Given the description of an element on the screen output the (x, y) to click on. 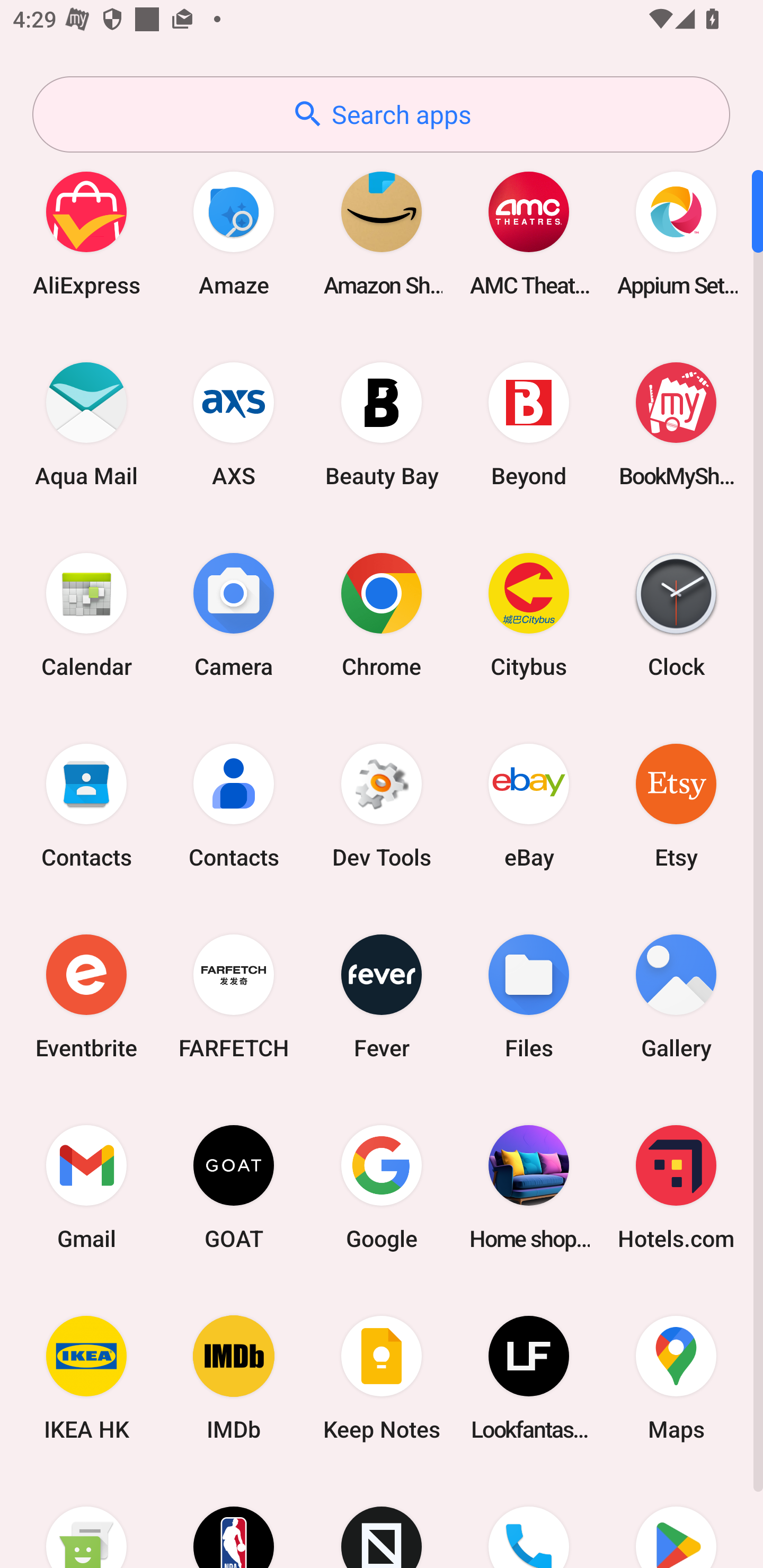
  Search apps (381, 114)
AliExpress (86, 233)
Amaze (233, 233)
Amazon Shopping (381, 233)
AMC Theatres (528, 233)
Appium Settings (676, 233)
Aqua Mail (86, 424)
AXS (233, 424)
Beauty Bay (381, 424)
Beyond (528, 424)
BookMyShow (676, 424)
Calendar (86, 614)
Camera (233, 614)
Chrome (381, 614)
Citybus (528, 614)
Clock (676, 614)
Contacts (86, 805)
Contacts (233, 805)
Dev Tools (381, 805)
eBay (528, 805)
Etsy (676, 805)
Eventbrite (86, 996)
FARFETCH (233, 996)
Fever (381, 996)
Files (528, 996)
Gallery (676, 996)
Gmail (86, 1186)
GOAT (233, 1186)
Google (381, 1186)
Home shopping (528, 1186)
Hotels.com (676, 1186)
IKEA HK (86, 1377)
IMDb (233, 1377)
Keep Notes (381, 1377)
Lookfantastic (528, 1377)
Maps (676, 1377)
